Given the description of an element on the screen output the (x, y) to click on. 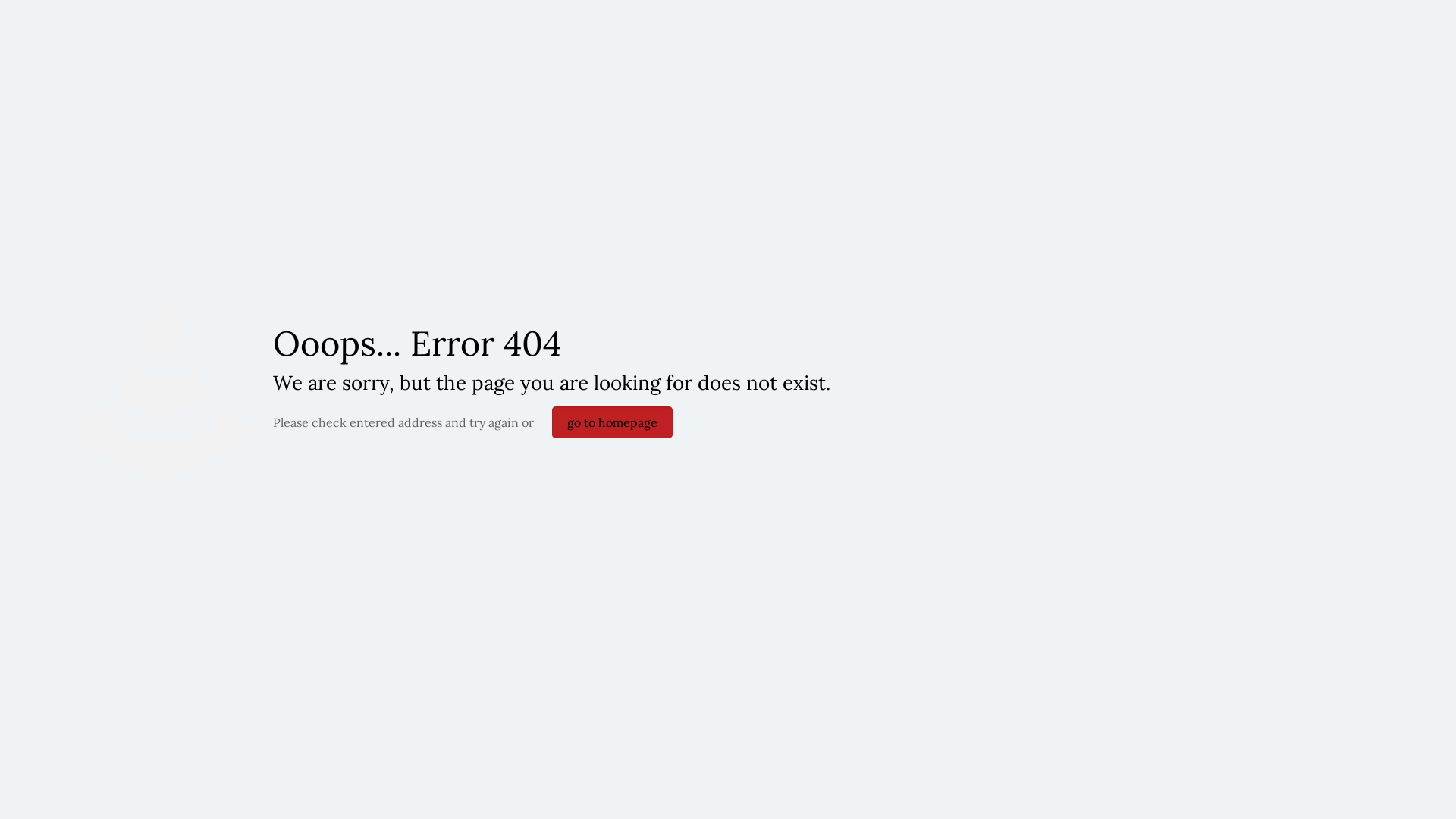
go to homepage Element type: text (612, 422)
